Given the description of an element on the screen output the (x, y) to click on. 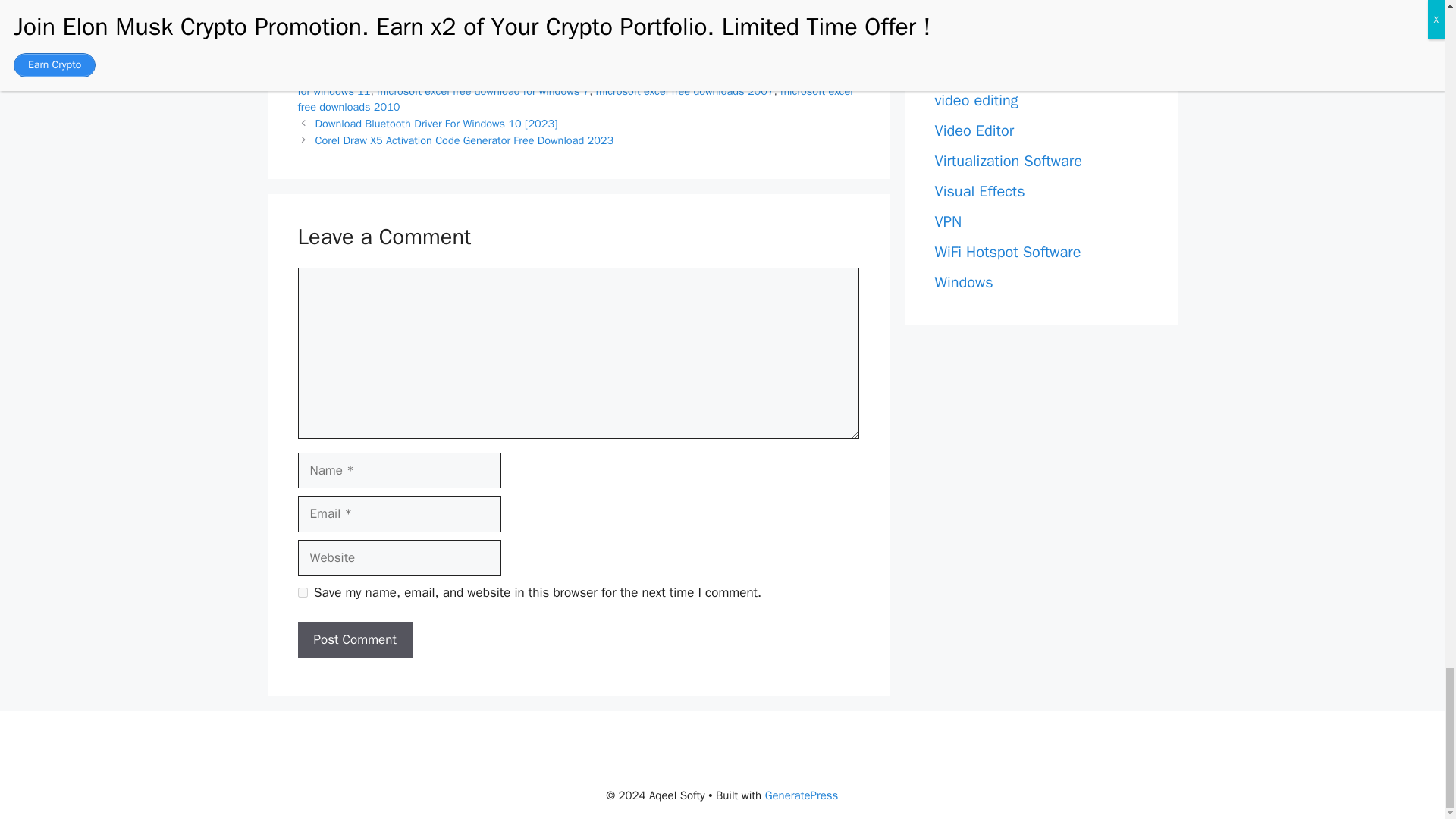
microsoft excel free download 2010 (580, 57)
microsoft excel free download for windows 10 (587, 74)
Corel Draw X5 Activation Code Generator Free Download 2023 (464, 140)
Post Comment (354, 639)
microsoft excel free download for pc (383, 74)
Post Comment (354, 639)
yes (302, 592)
microsoft excel free downloads 2010 (574, 99)
microsoft excel free download 2007 (401, 57)
microsoft excel free download for windows 7 (483, 90)
microsoft excel free downloads 2007 (684, 90)
microsoft excel free download for windows 11 (571, 82)
microsoft excel free download 2016 (758, 57)
Microsoft (337, 41)
